Given the description of an element on the screen output the (x, y) to click on. 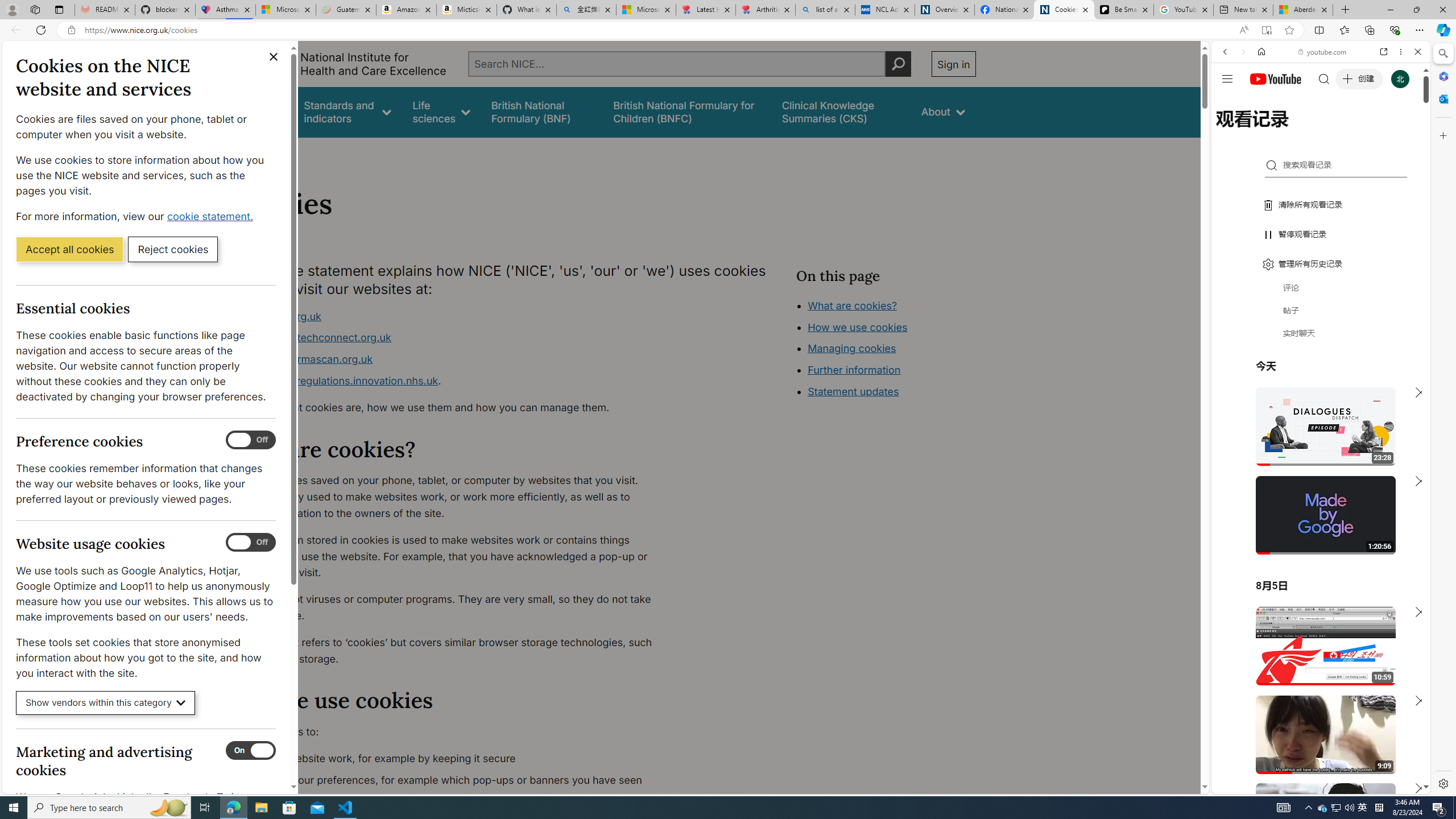
Home> (246, 152)
www.digitalregulations.innovation.nhs.uk (338, 380)
#you (1315, 659)
Statement updates (853, 391)
US[ju] (1249, 785)
About (942, 111)
Close Outlook pane (1442, 98)
WEB   (1230, 130)
